Given the description of an element on the screen output the (x, y) to click on. 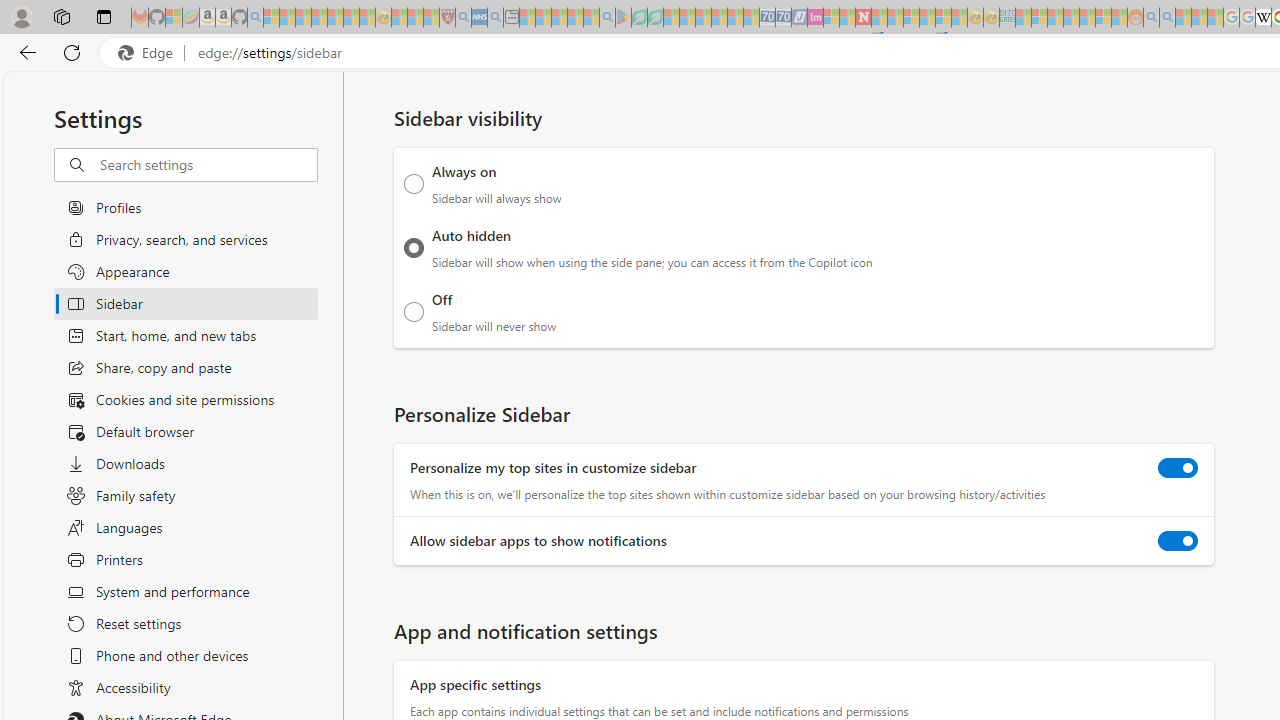
Target page - Wikipedia (1263, 17)
Terms of Use Agreement - Sleeping (639, 17)
Jobs - lastminute.com Investor Portal - Sleeping (815, 17)
Allow sidebar apps to show notifications (1178, 540)
